Given the description of an element on the screen output the (x, y) to click on. 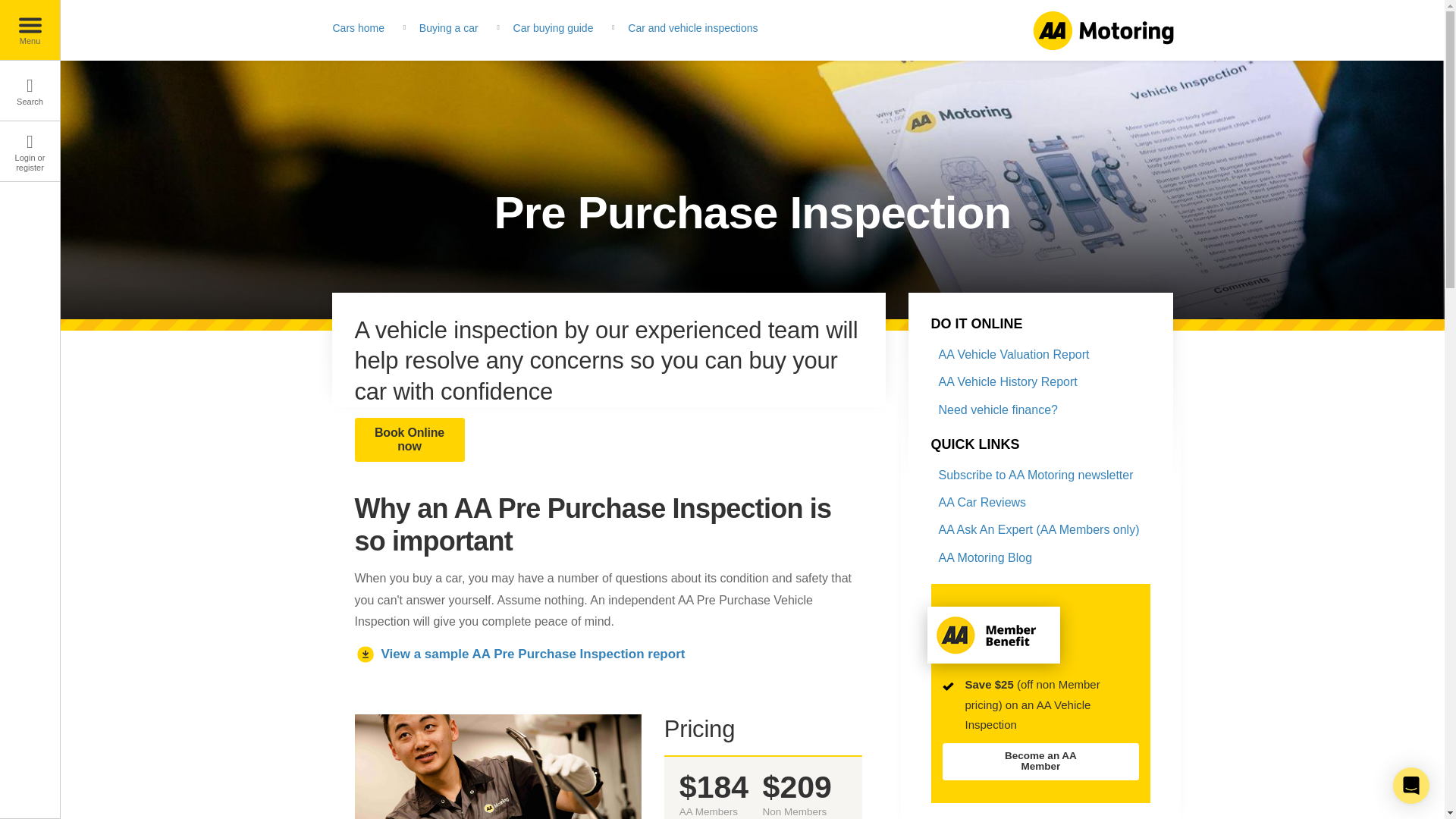
Menu (29, 30)
Search (29, 90)
Login or register (29, 151)
AA Motoring (1101, 29)
